Given the description of an element on the screen output the (x, y) to click on. 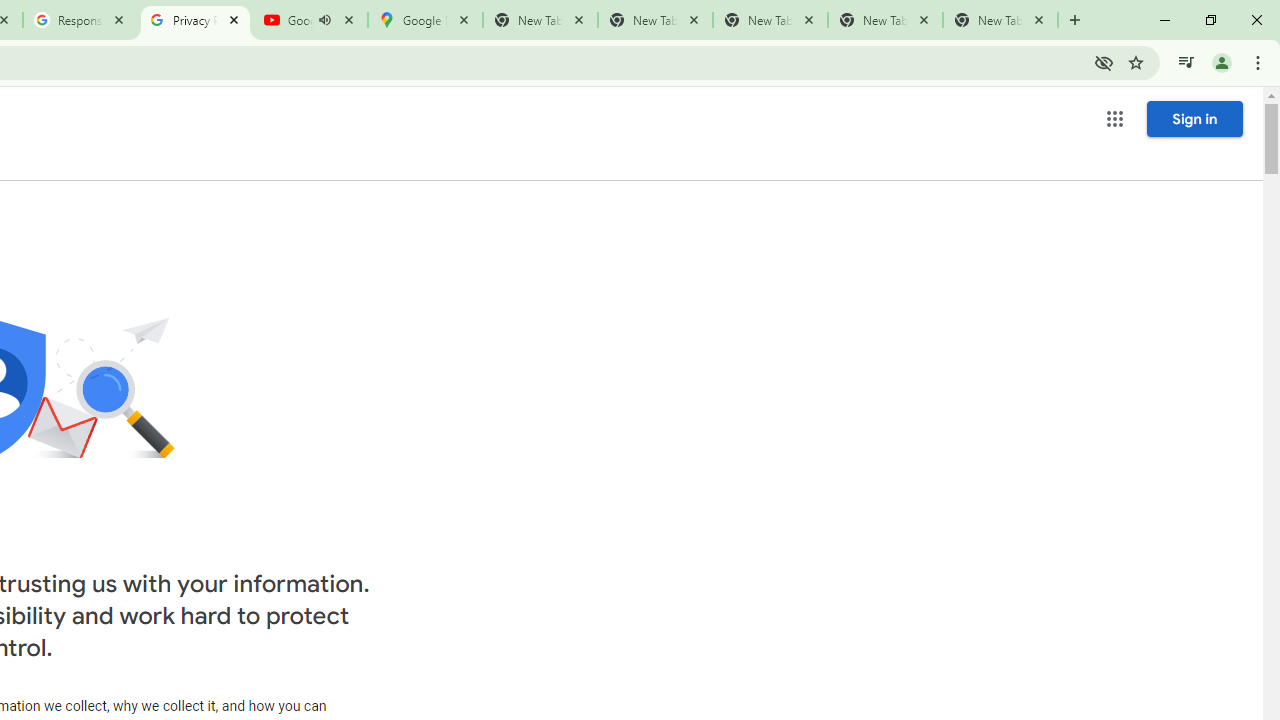
Google Maps (424, 20)
Google apps (1114, 118)
